Given the description of an element on the screen output the (x, y) to click on. 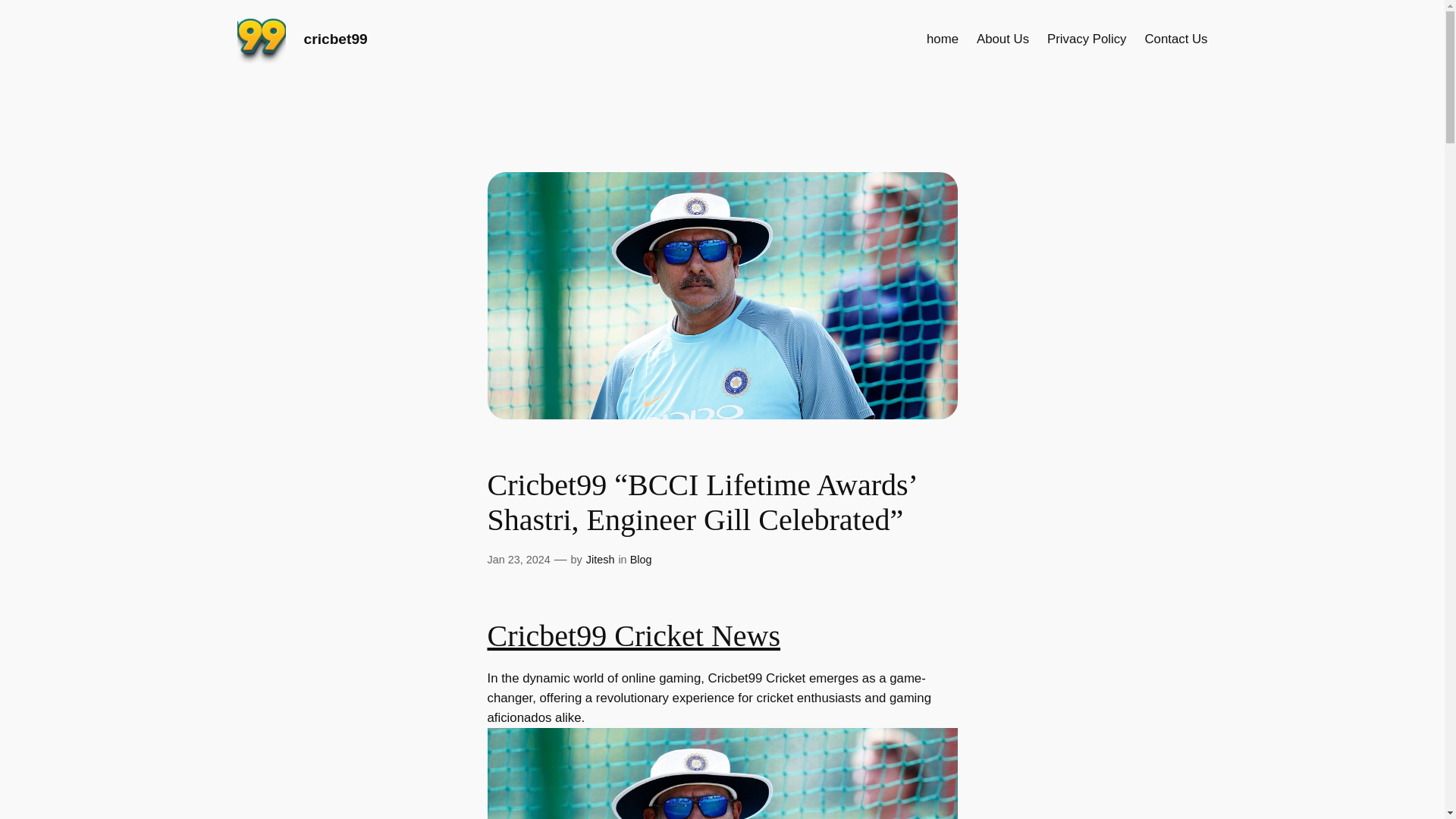
About Us (1002, 39)
cricbet99 (334, 38)
Jitesh (600, 559)
Contact Us (1175, 39)
home (942, 39)
Blog (641, 559)
Privacy Policy (1085, 39)
Cricbet99 Cricket News (633, 635)
Jan 23, 2024 (518, 559)
